Given the description of an element on the screen output the (x, y) to click on. 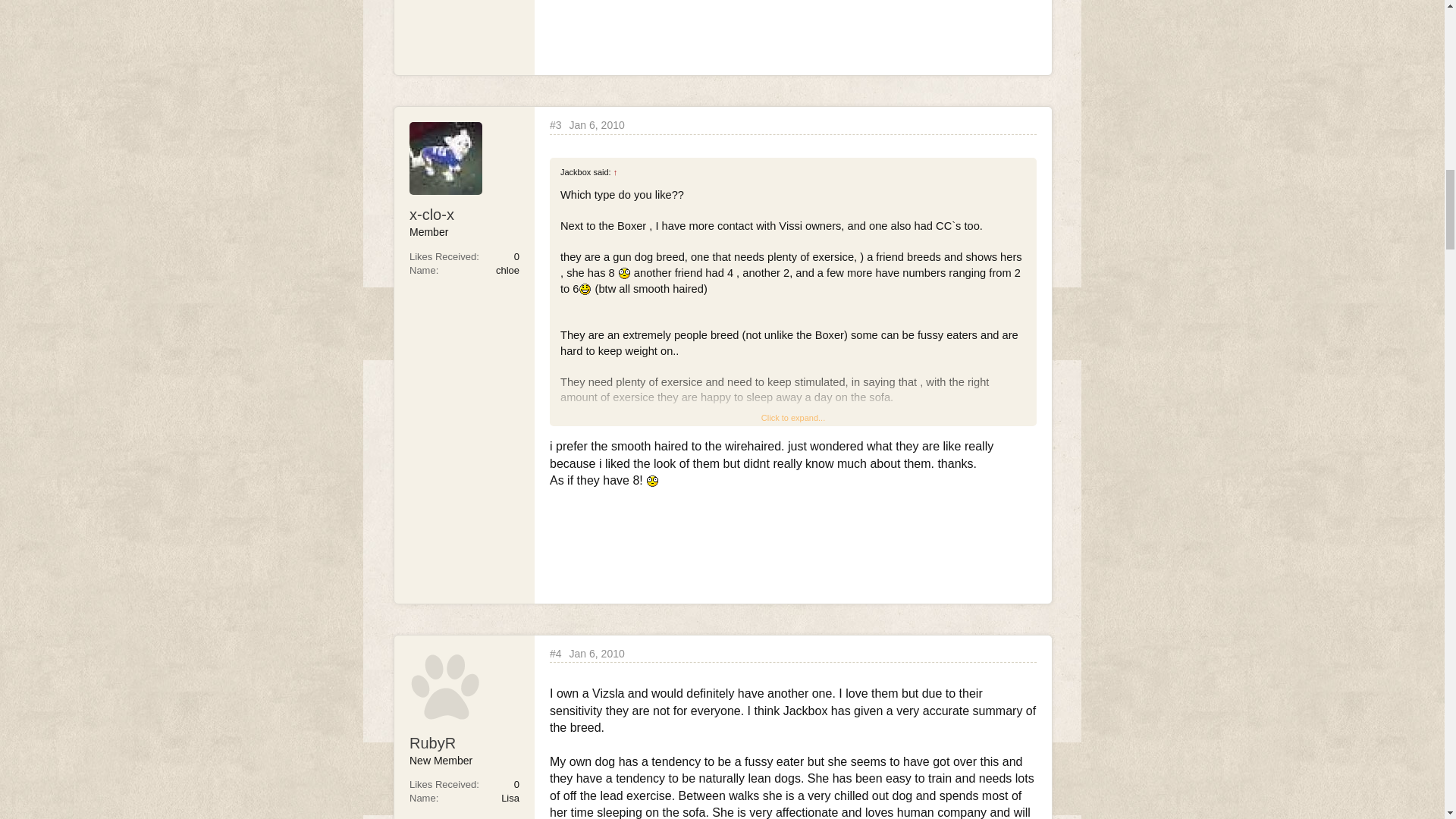
Permalink (596, 124)
x-clo-x (464, 214)
Icon Eek    :shock: (624, 273)
Permalink (556, 125)
Icon Lol    :lol: (585, 288)
